Given the description of an element on the screen output the (x, y) to click on. 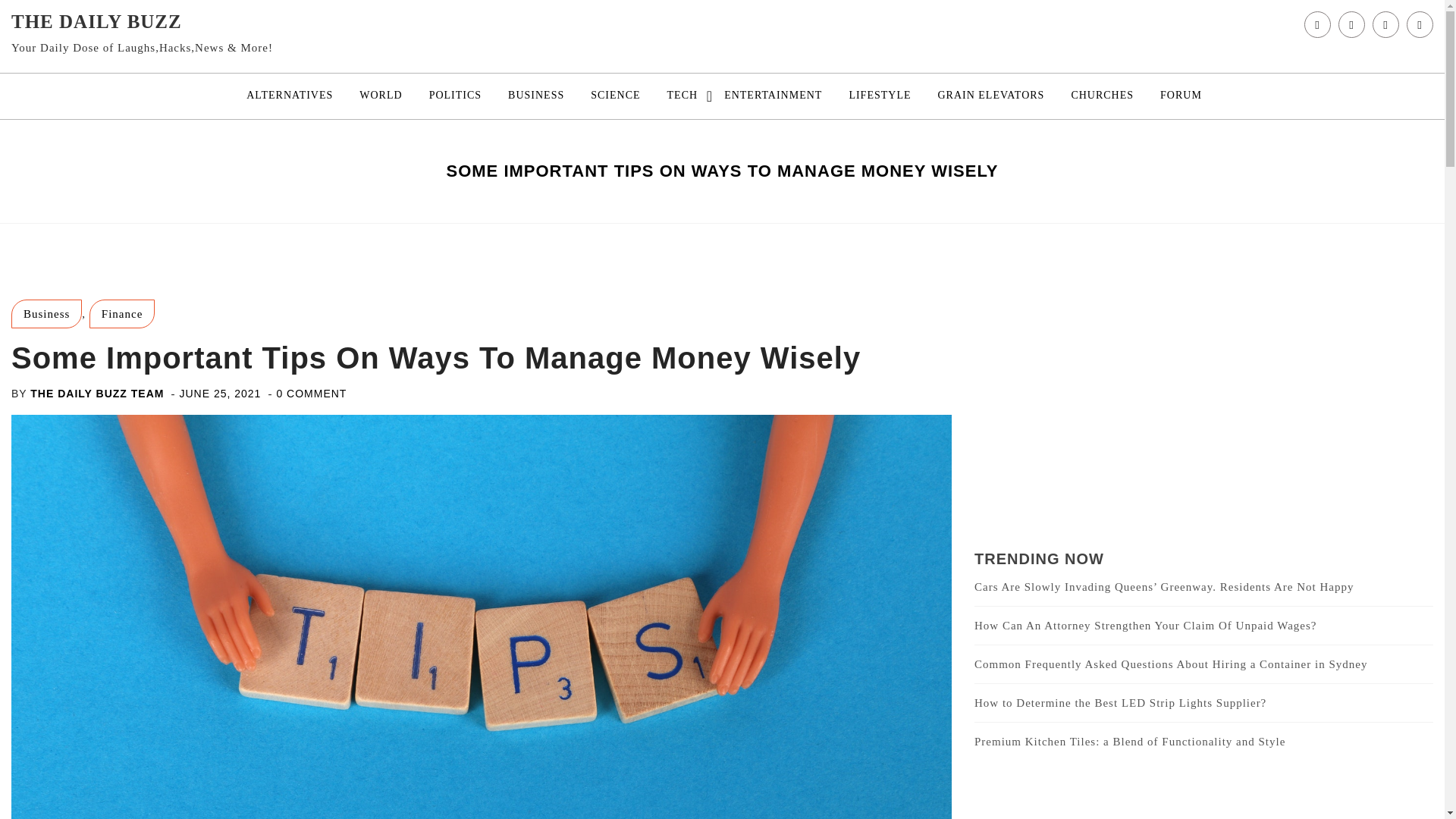
Business (46, 313)
ALTERNATIVES (288, 95)
SCIENCE (614, 95)
LIFESTYLE (879, 95)
BUSINESS (535, 95)
ENTERTAINMENT (772, 95)
WORLD (380, 95)
THE DAILY BUZZ (96, 21)
FORUM (1180, 95)
JUNE 25, 2021 (219, 393)
